Given the description of an element on the screen output the (x, y) to click on. 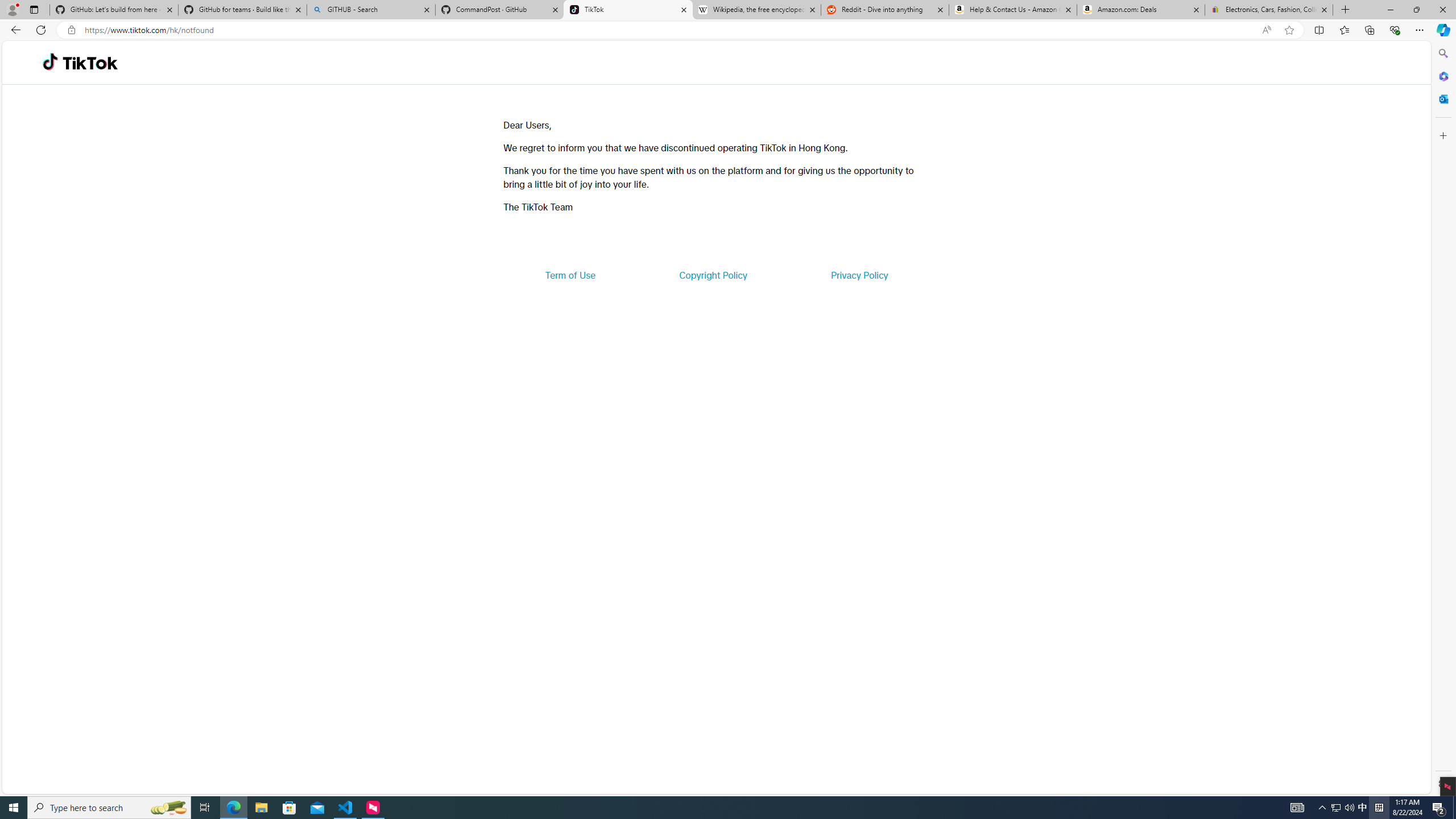
Help & Contact Us - Amazon Customer Service (1012, 9)
Copyright Policy (712, 274)
Wikipedia, the free encyclopedia (756, 9)
